Given the description of an element on the screen output the (x, y) to click on. 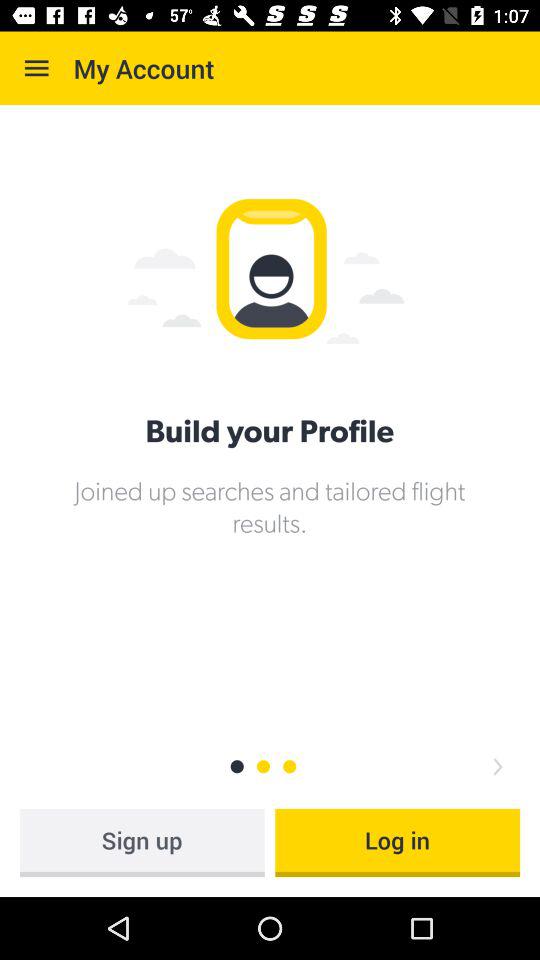
next step (498, 766)
